Given the description of an element on the screen output the (x, y) to click on. 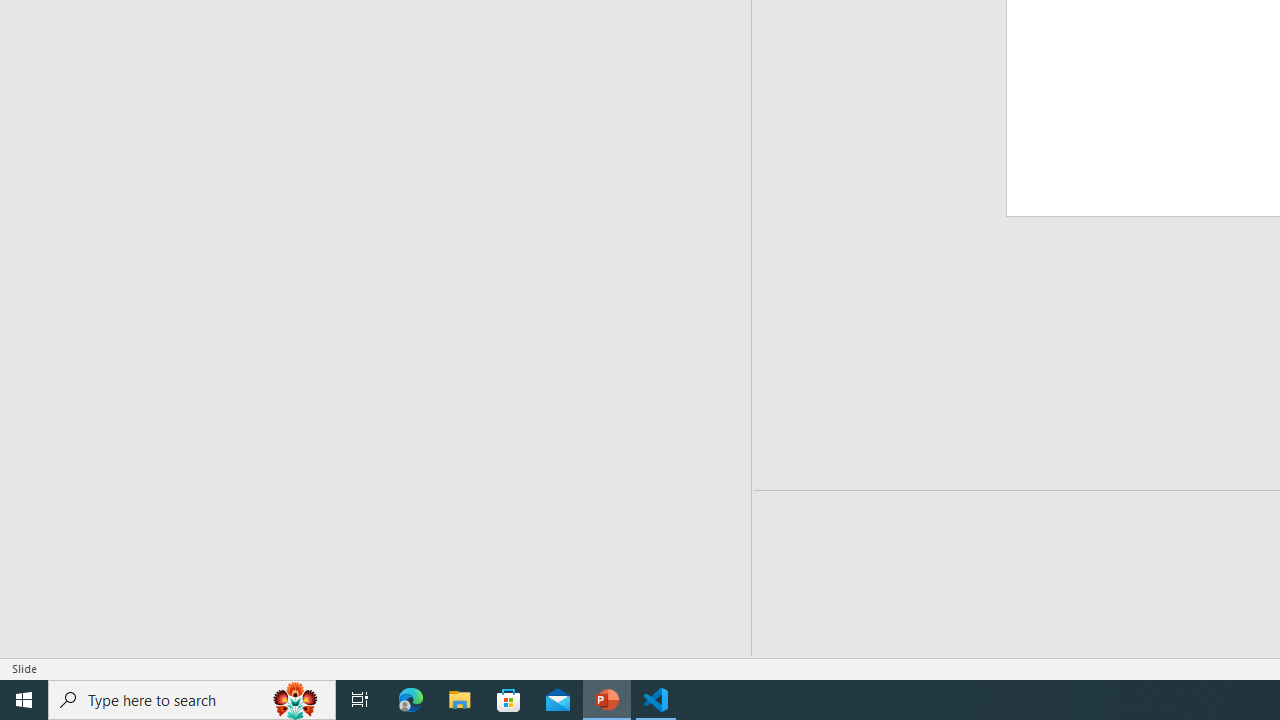
Visual Studio Code (37, 209)
Microsoft Edge (411, 699)
WeChat (37, 299)
